Given the description of an element on the screen output the (x, y) to click on. 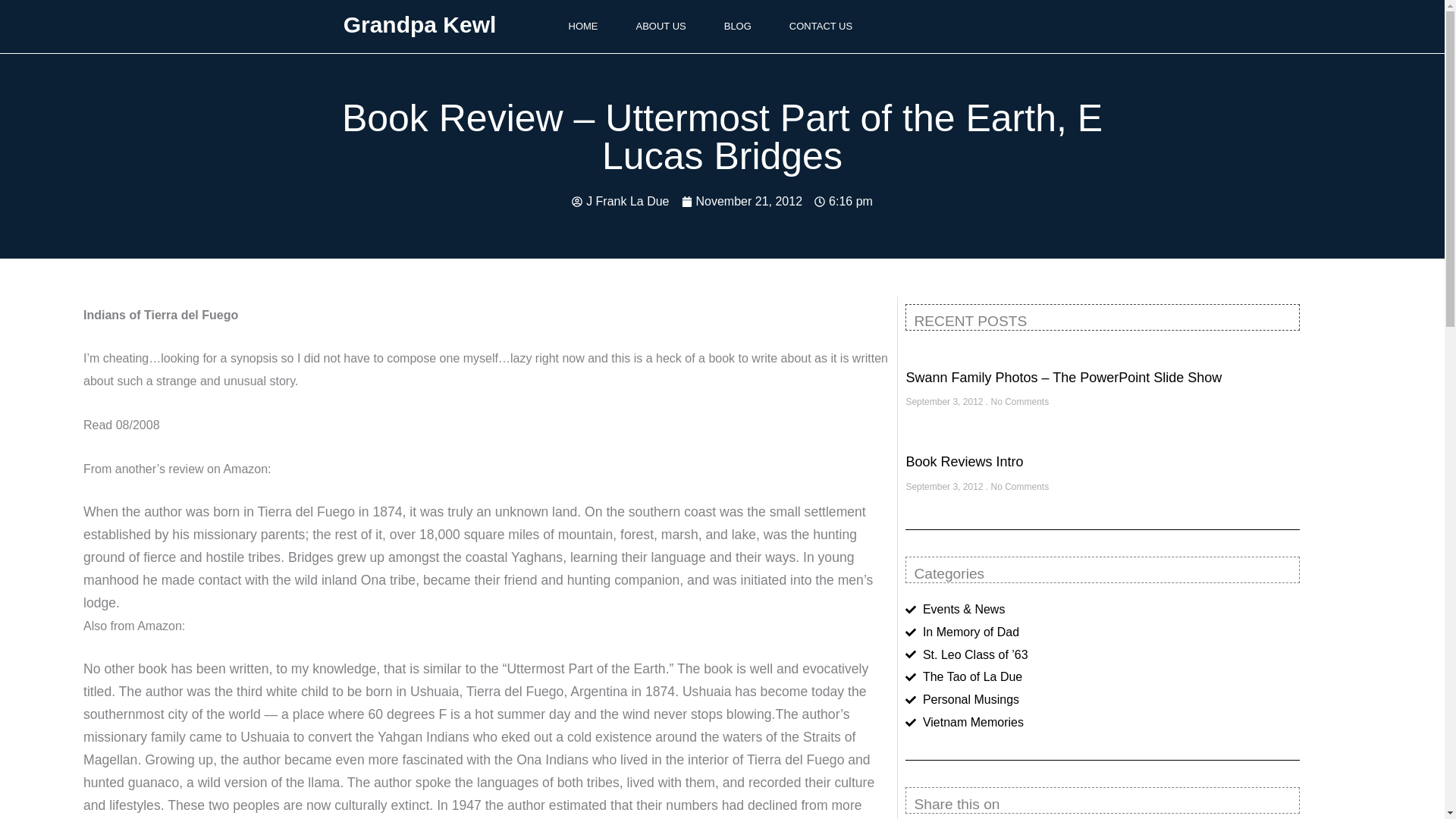
Vietnam Memories (1102, 722)
ABOUT US (660, 26)
In Memory of Dad (1102, 631)
HOME (581, 26)
CONTACT US (820, 26)
Personal Musings (1102, 699)
The Tao of La Due (1102, 676)
J Frank La Due (620, 201)
BLOG (737, 26)
November 21, 2012 (742, 201)
